Given the description of an element on the screen output the (x, y) to click on. 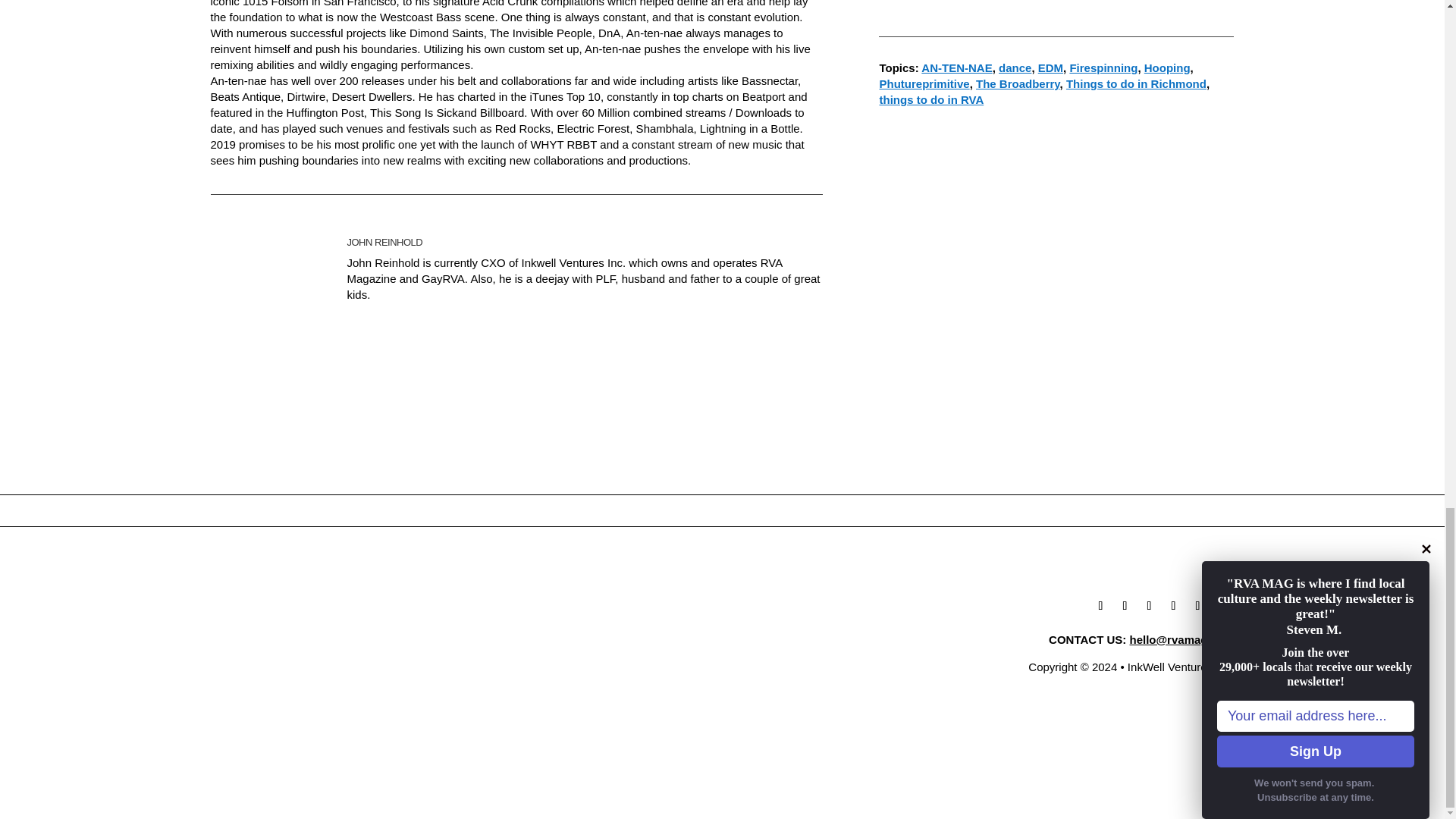
Follow on X (1125, 605)
Follow on Facebook (1101, 605)
Follow on TikTok (1197, 605)
Follow on tumblr (1149, 605)
Follow on Instagram (1173, 605)
